Given the description of an element on the screen output the (x, y) to click on. 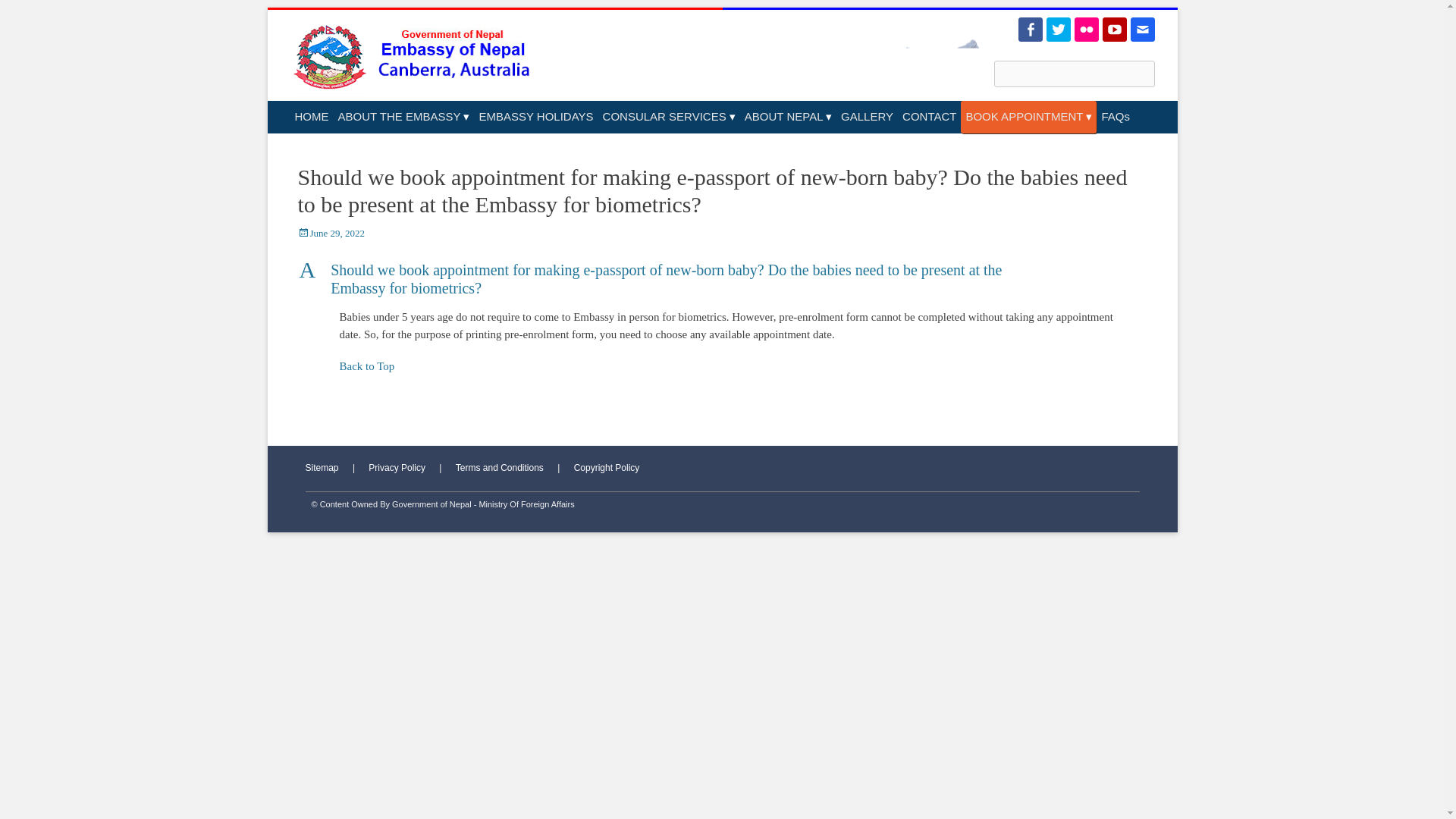
Flickr (1085, 29)
Email (1141, 29)
CONTACT (929, 116)
ABOUT THE EMBASSY (403, 116)
EMBASSY HOLIDAYS (535, 116)
Facebook (1029, 29)
CONSULAR SERVICES (668, 116)
YouTube (1114, 29)
Search for: (1073, 73)
BOOK APPOINTMENT (1028, 116)
GALLERY (866, 116)
Flickr (1085, 29)
YouTube (1114, 29)
Facebook (1029, 29)
Email (1141, 29)
